Given the description of an element on the screen output the (x, y) to click on. 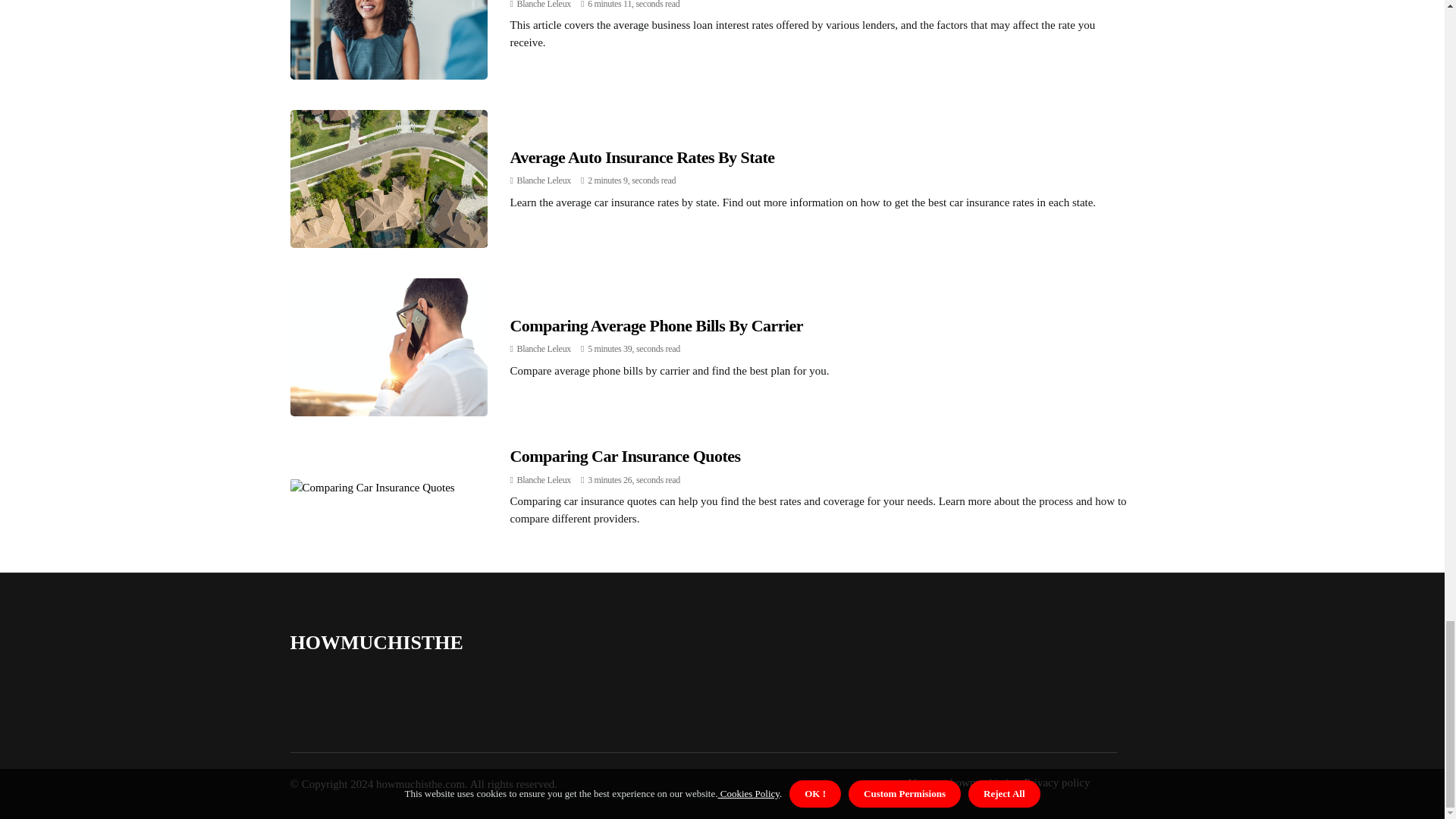
Posts by Blanche Leleux (543, 348)
Posts by Blanche Leleux (543, 4)
Posts by Blanche Leleux (543, 180)
Posts by Blanche Leleux (543, 480)
